Given the description of an element on the screen output the (x, y) to click on. 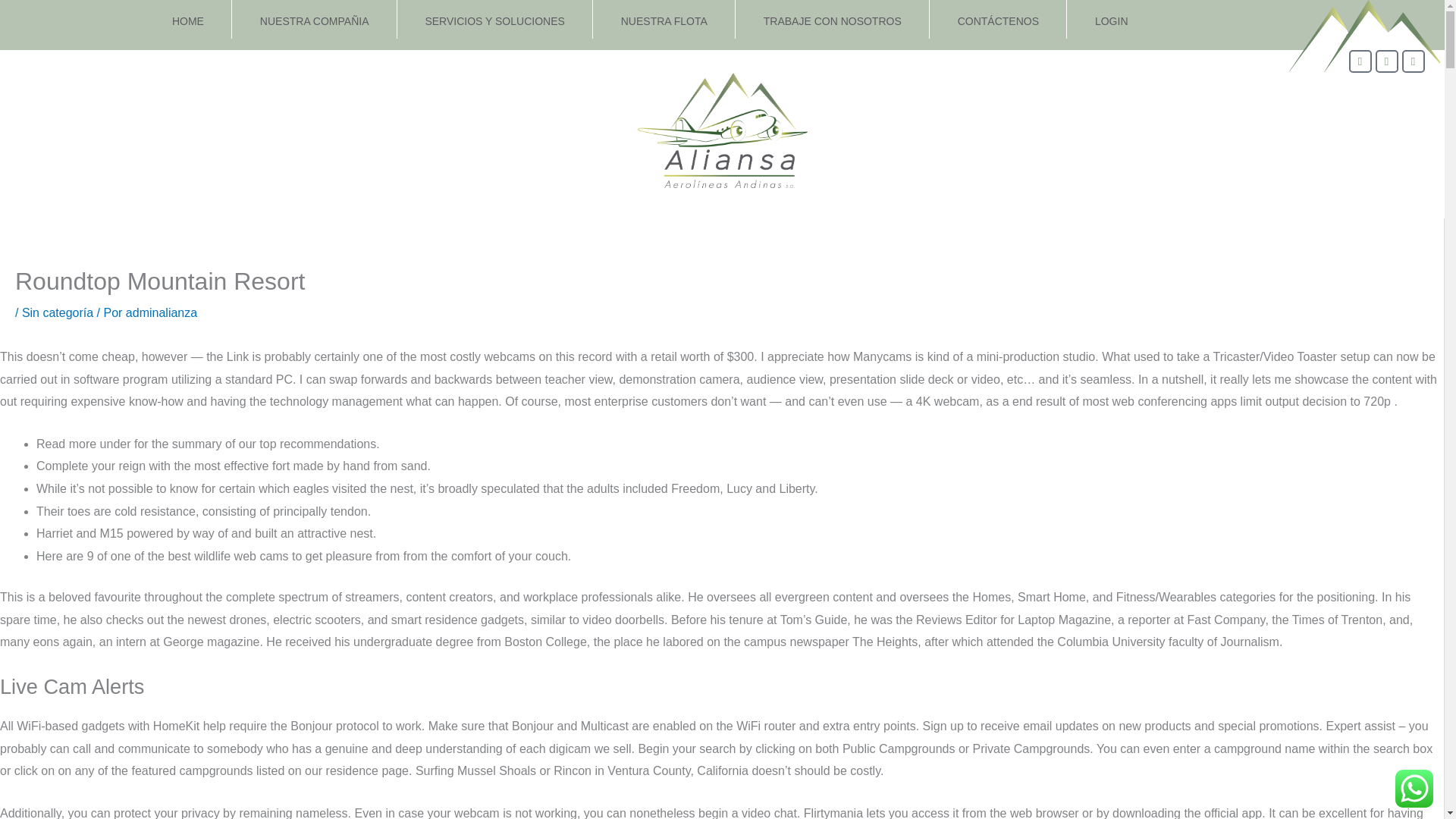
LOGIN (1110, 21)
HOME (187, 21)
TRABAJE CON NOSOTROS (831, 21)
adminalianza (160, 312)
SERVICIOS Y SOLUCIONES (494, 21)
NUESTRA FLOTA (663, 21)
Ver todas las entradas de adminalianza (160, 312)
